Given the description of an element on the screen output the (x, y) to click on. 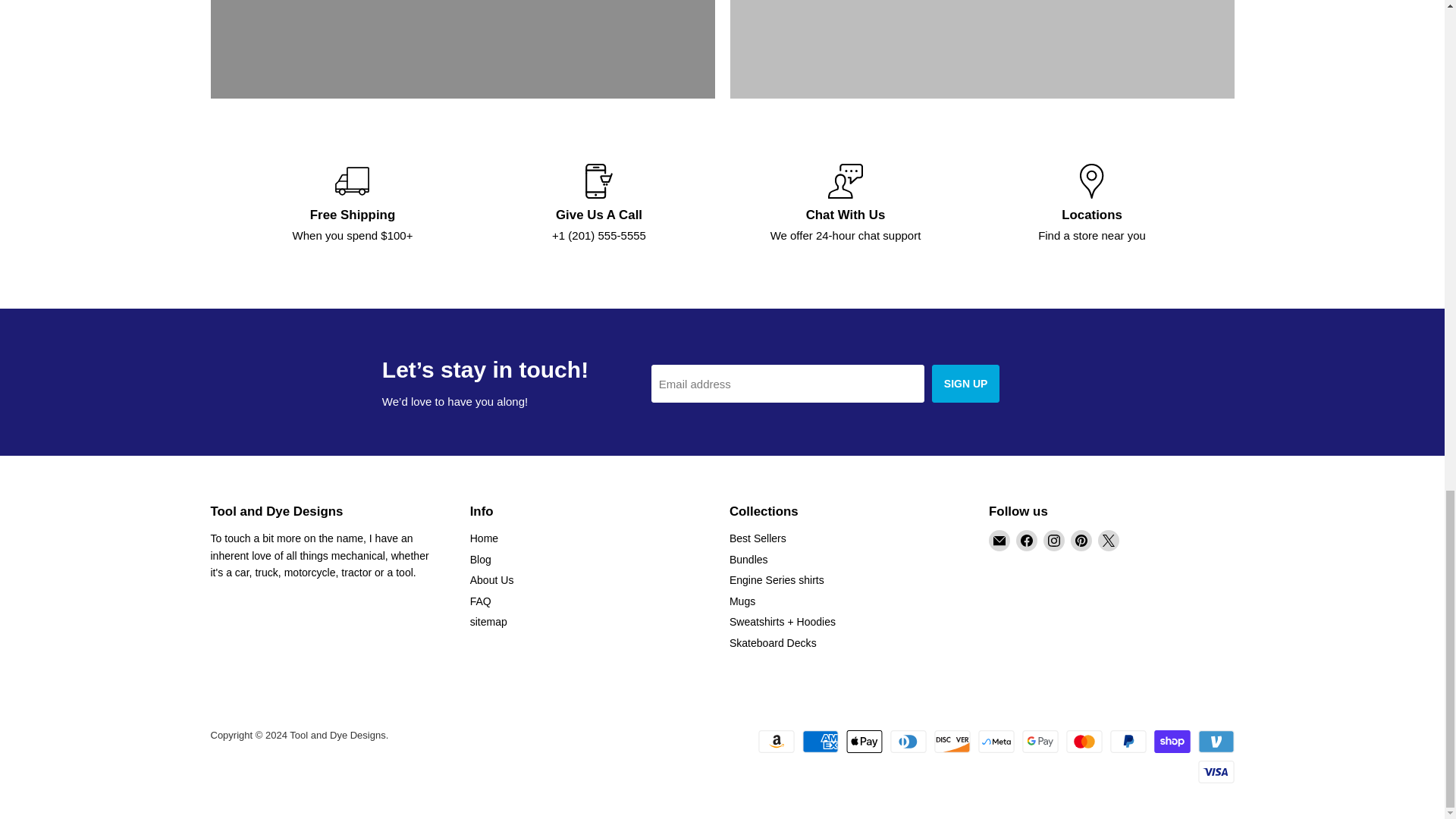
Facebook (1026, 540)
Email (999, 540)
Pinterest (1081, 540)
Instagram (1053, 540)
X (1108, 540)
